Given the description of an element on the screen output the (x, y) to click on. 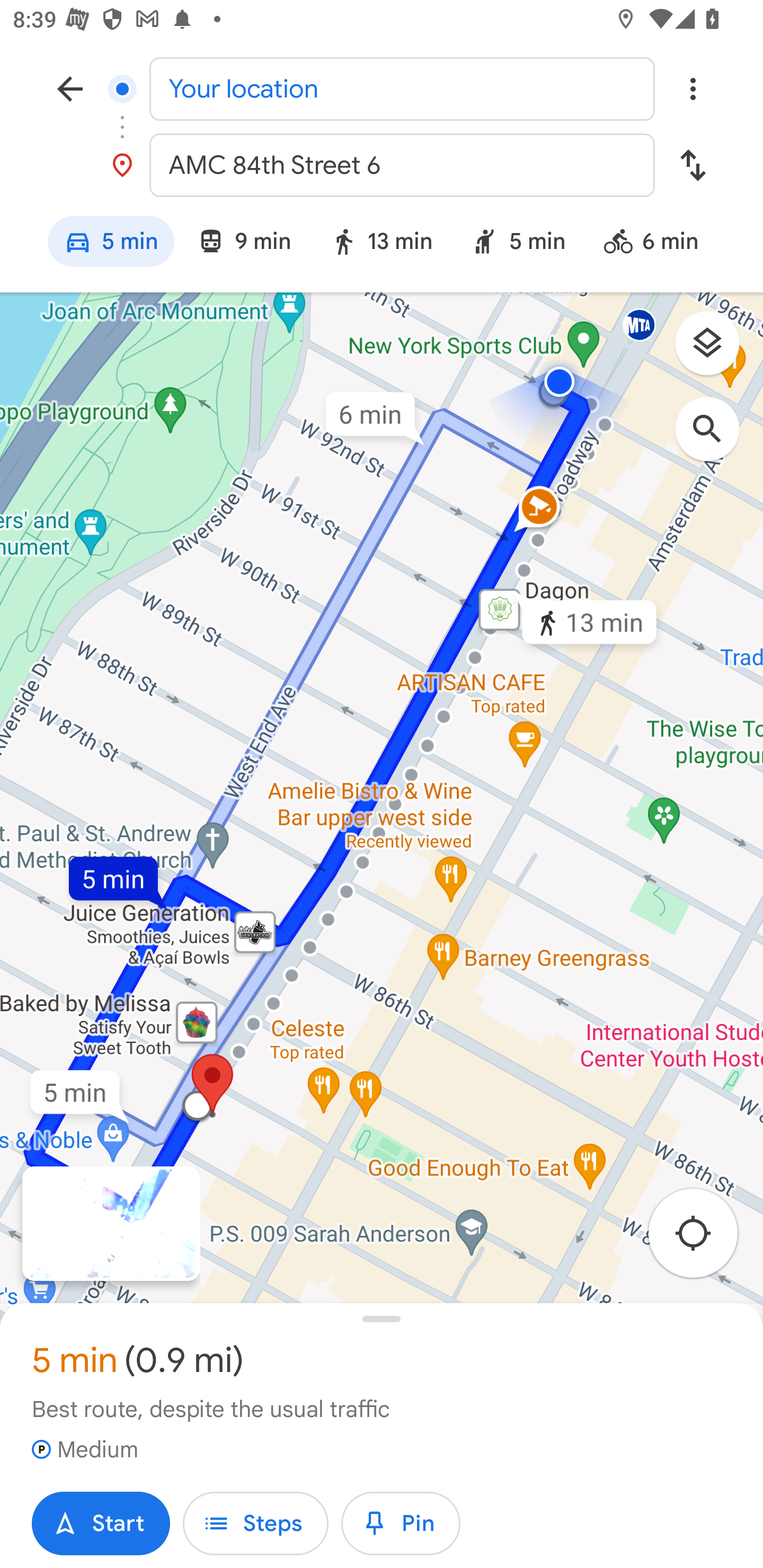
Navigate up (70, 88)
Your location Start location, Your location (381, 88)
Overflow menu (692, 88)
AMC 84th Street 6 Destination, AMC 84th Street 6 (381, 165)
Swap start and destination (692, 165)
Transit mode: 9 min 9 min (243, 244)
Walking mode: 13 min 13 min (380, 244)
Ride service: 5 min 5 min (518, 244)
Bicycling mode: 6 min 6 min (659, 244)
Layers (716, 349)
Search along route (716, 438)
Open Immersive View for routes (110, 1223)
Re-center map to your location (702, 1238)
Steps Steps Steps (255, 1522)
Pin trip Pin Pin trip (400, 1522)
